Given the description of an element on the screen output the (x, y) to click on. 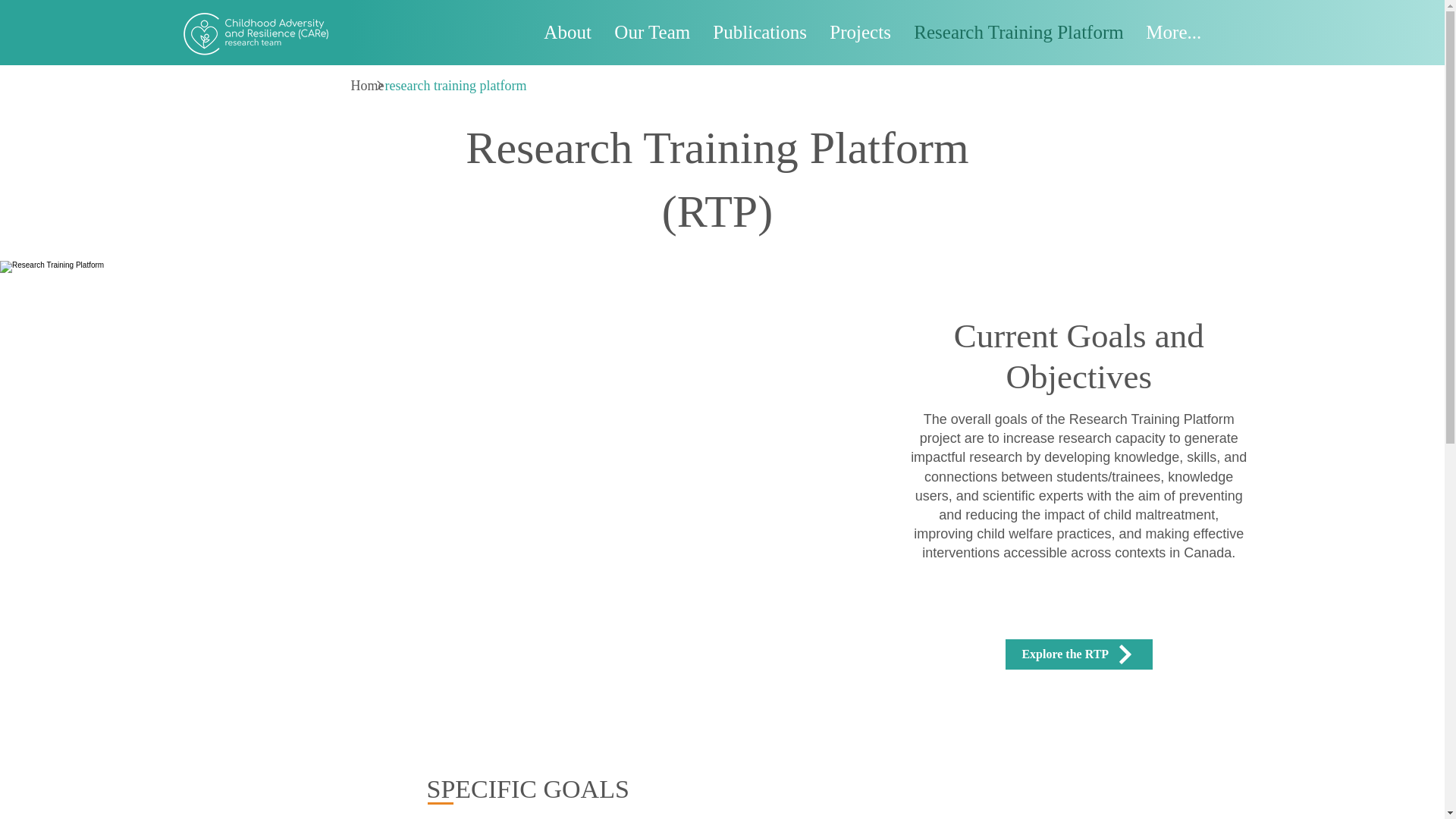
research training platform (456, 86)
Publications (759, 32)
Explore the RTP (1079, 654)
Our Team (651, 32)
About (567, 32)
Home (367, 86)
Projects (860, 32)
Research Training Platform (1018, 32)
